Given the description of an element on the screen output the (x, y) to click on. 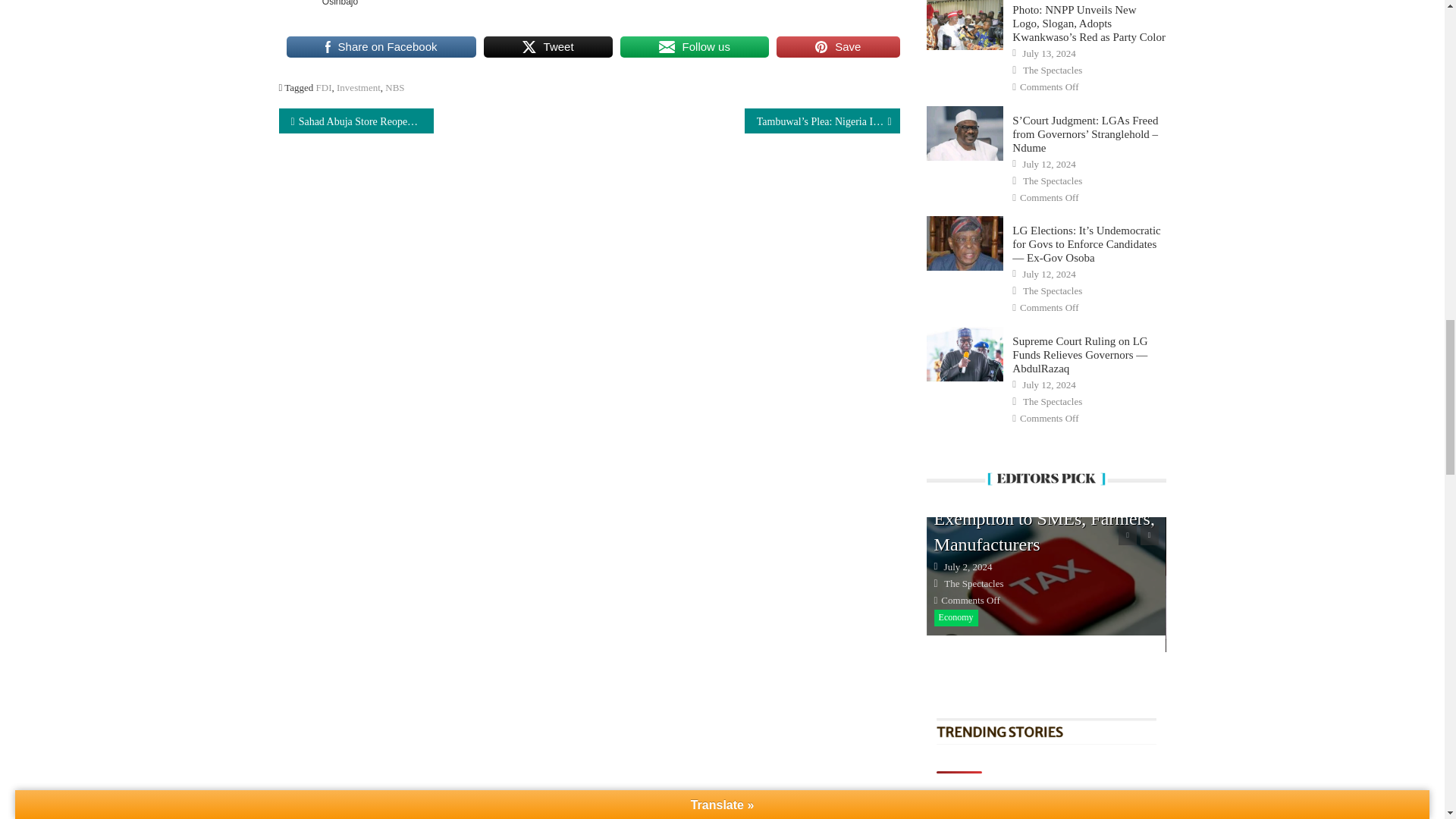
Tweet (547, 46)
FDI (323, 87)
NBS (394, 87)
Share on Facebook (381, 46)
Save (837, 46)
Investment (358, 87)
Follow us (694, 46)
